Given the description of an element on the screen output the (x, y) to click on. 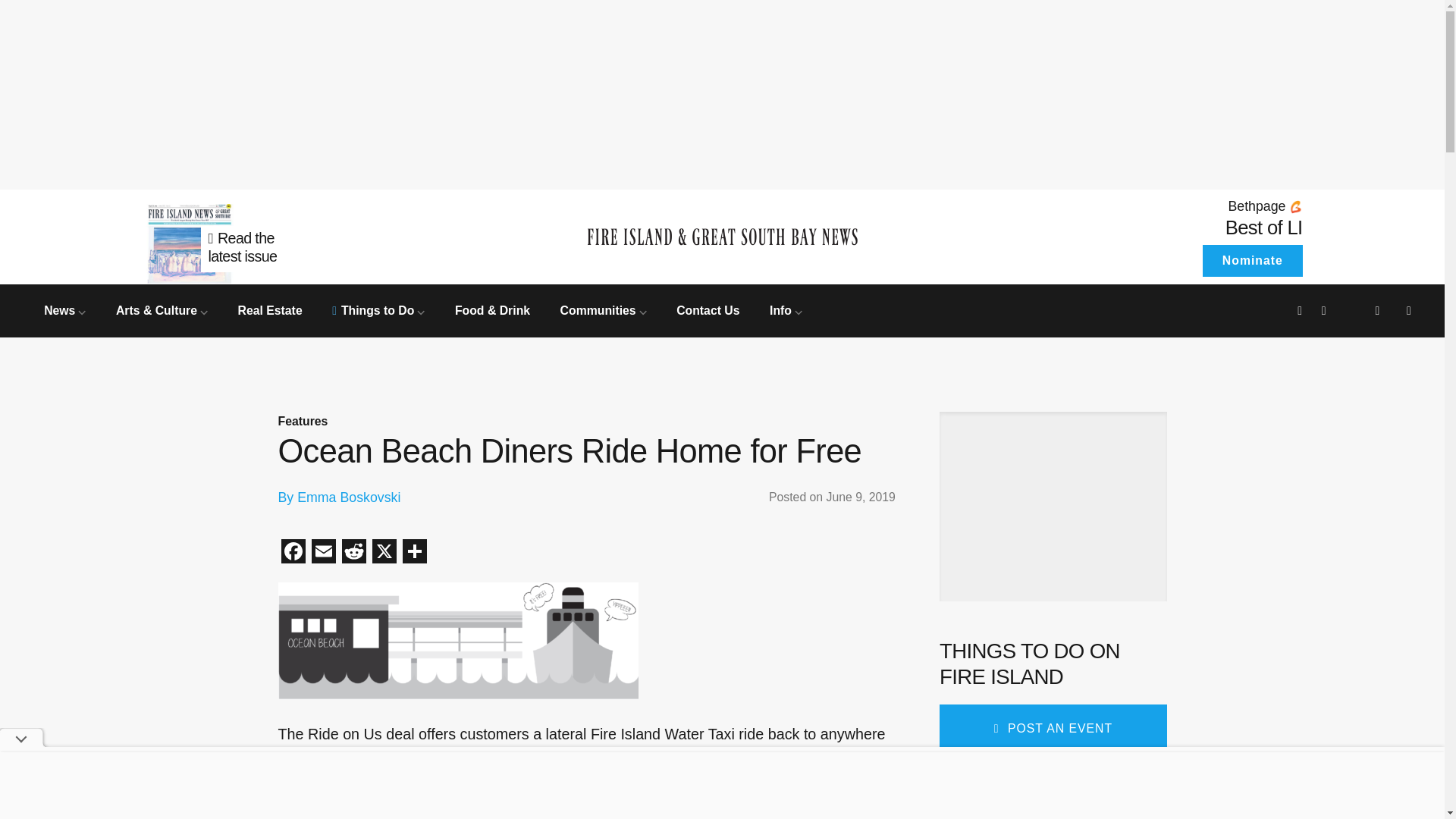
Presented by Bethpage Federal Credit Union (1166, 206)
Contact Us (278, 236)
Reddit (708, 309)
Best of LI (352, 552)
Info (1264, 227)
Things to Do (786, 309)
Nominate (378, 309)
X (1251, 260)
Facebook (383, 552)
